Given the description of an element on the screen output the (x, y) to click on. 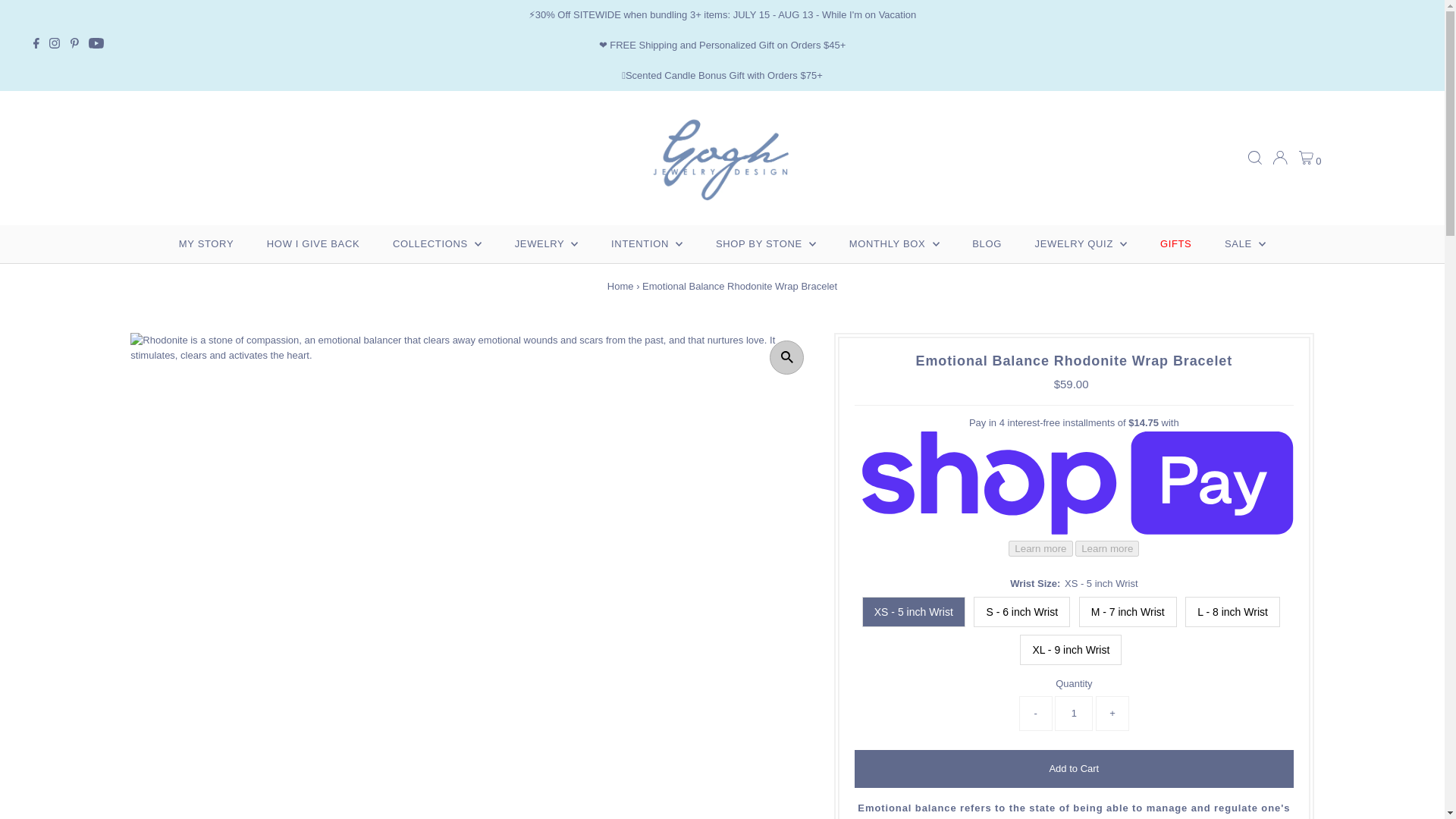
Click to zoom (786, 357)
Home (620, 285)
Add to Cart (1074, 768)
1 (1073, 713)
